Given the description of an element on the screen output the (x, y) to click on. 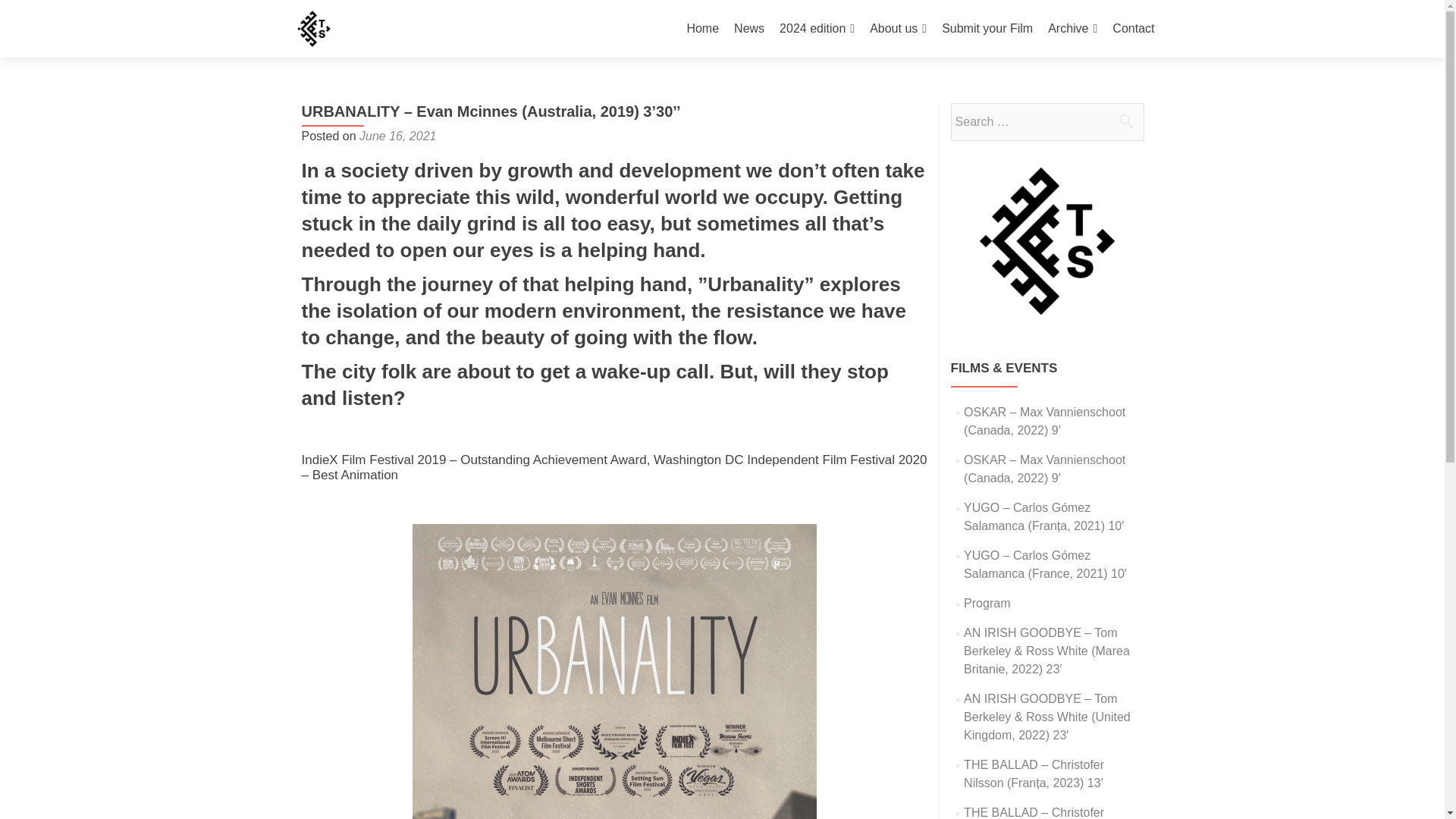
Submit your Film (987, 28)
2024 edition (816, 28)
Archive (1072, 28)
Search (1125, 120)
Home (702, 28)
About us (897, 28)
Search (1125, 120)
News (748, 28)
